Given the description of an element on the screen output the (x, y) to click on. 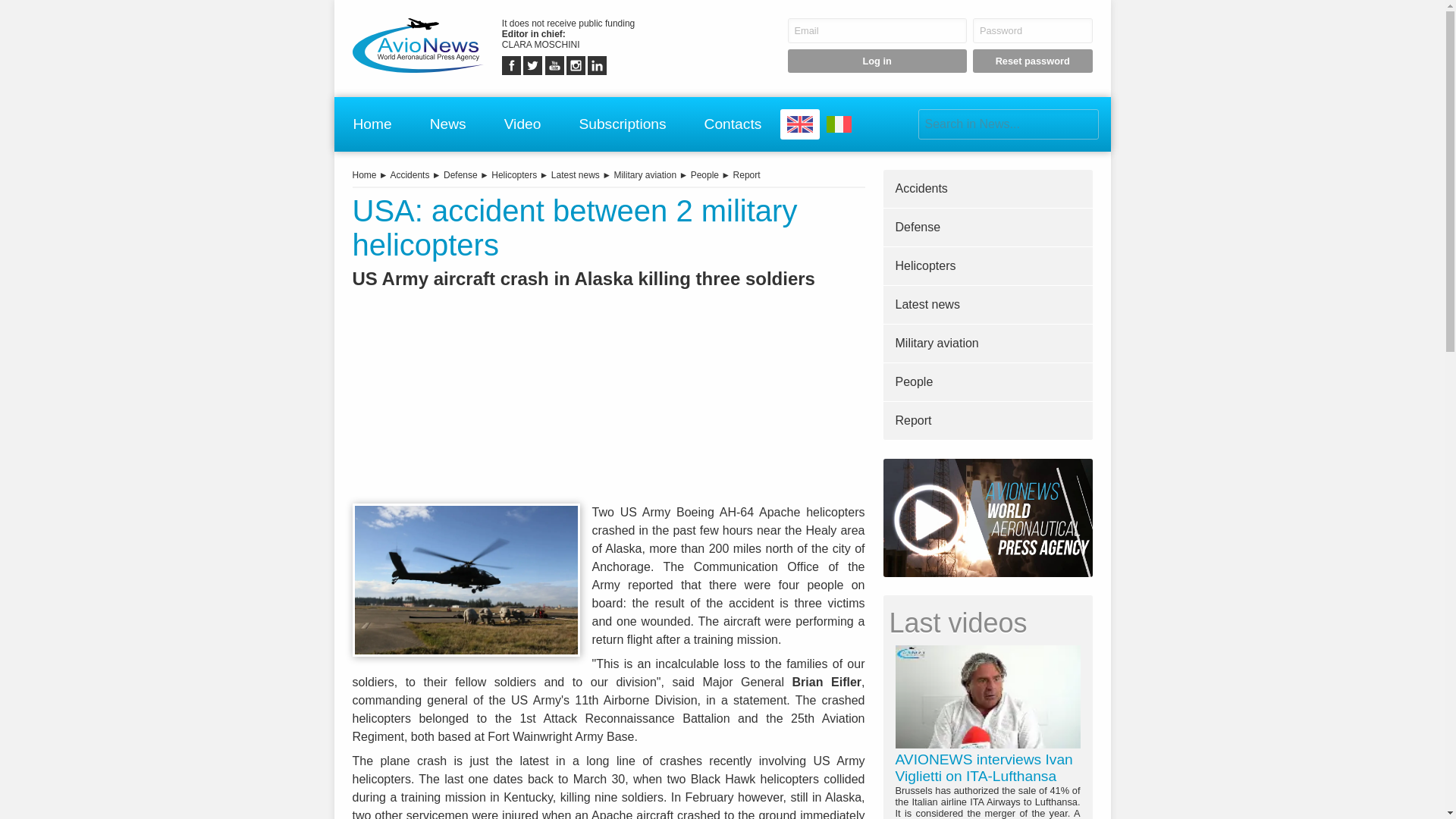
Log in (876, 60)
Video (522, 123)
Subscriptions (622, 123)
News (448, 123)
Visit our Youtube channel (554, 65)
A Boeing AH-64E Apache Guardian helicopter (466, 580)
Visit our LinkedIn page (597, 65)
Visit our Instagram page (575, 65)
Log in (876, 60)
Contacts (732, 123)
Visit our Facebook page (511, 65)
English (799, 124)
Italiano (839, 124)
Visit our Twitter page (531, 65)
